Given the description of an element on the screen output the (x, y) to click on. 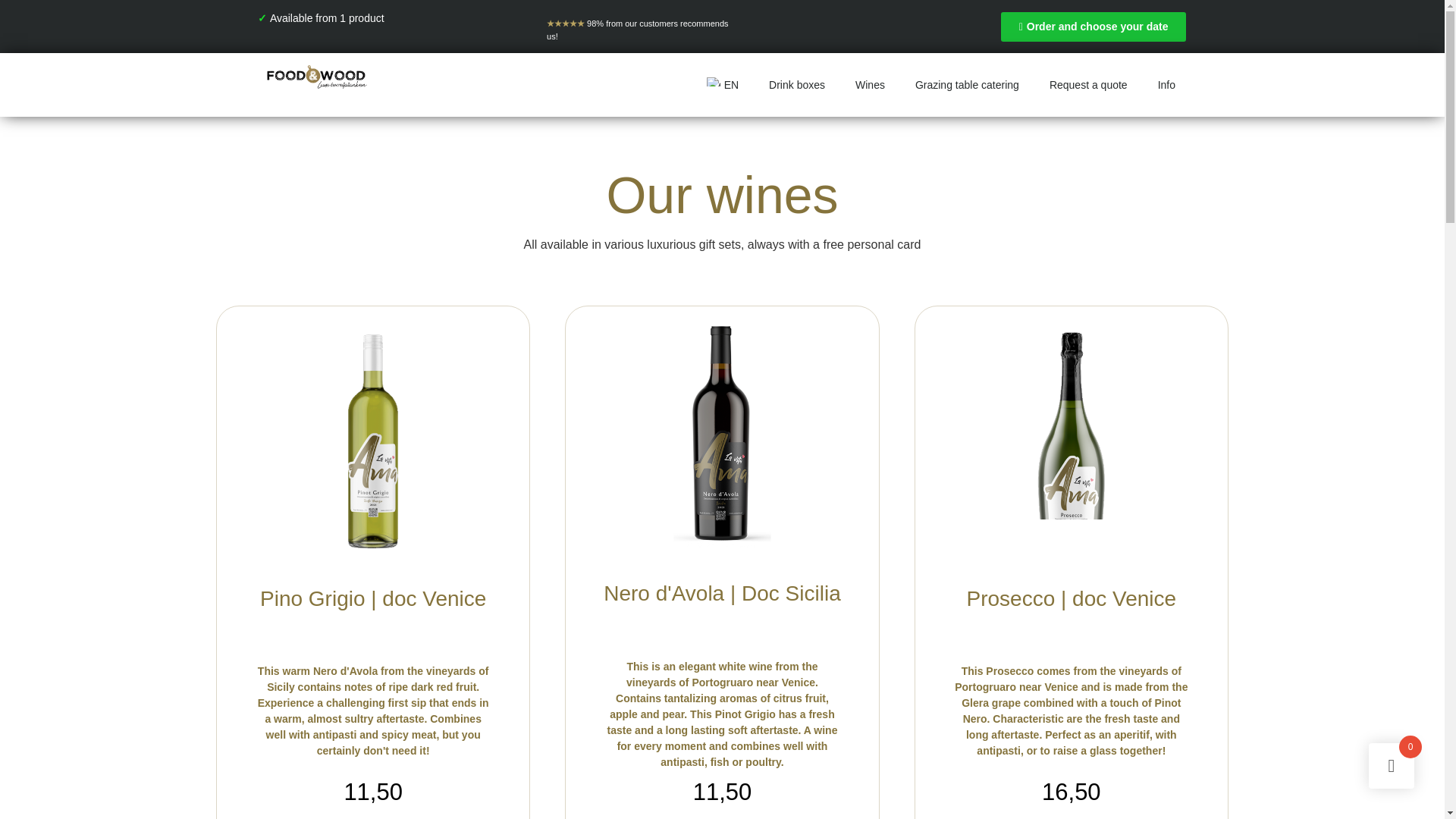
EN (720, 84)
Request a quote (1087, 84)
Drink boxes (797, 84)
Grazing table catering (966, 84)
Wines (869, 84)
Order and choose your date (1093, 26)
Info (1166, 84)
